Given the description of an element on the screen output the (x, y) to click on. 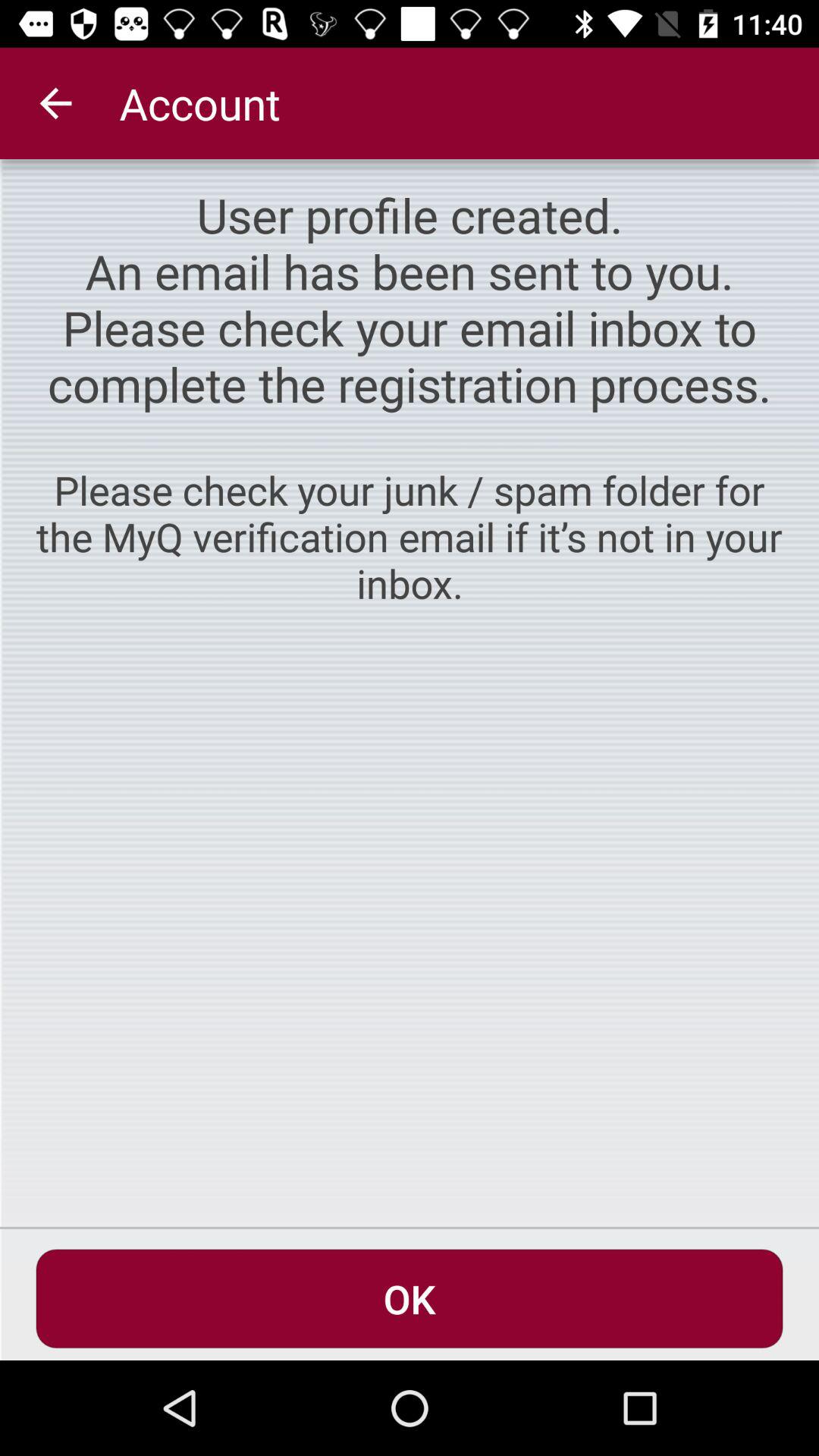
launch the icon next to the account item (55, 103)
